Given the description of an element on the screen output the (x, y) to click on. 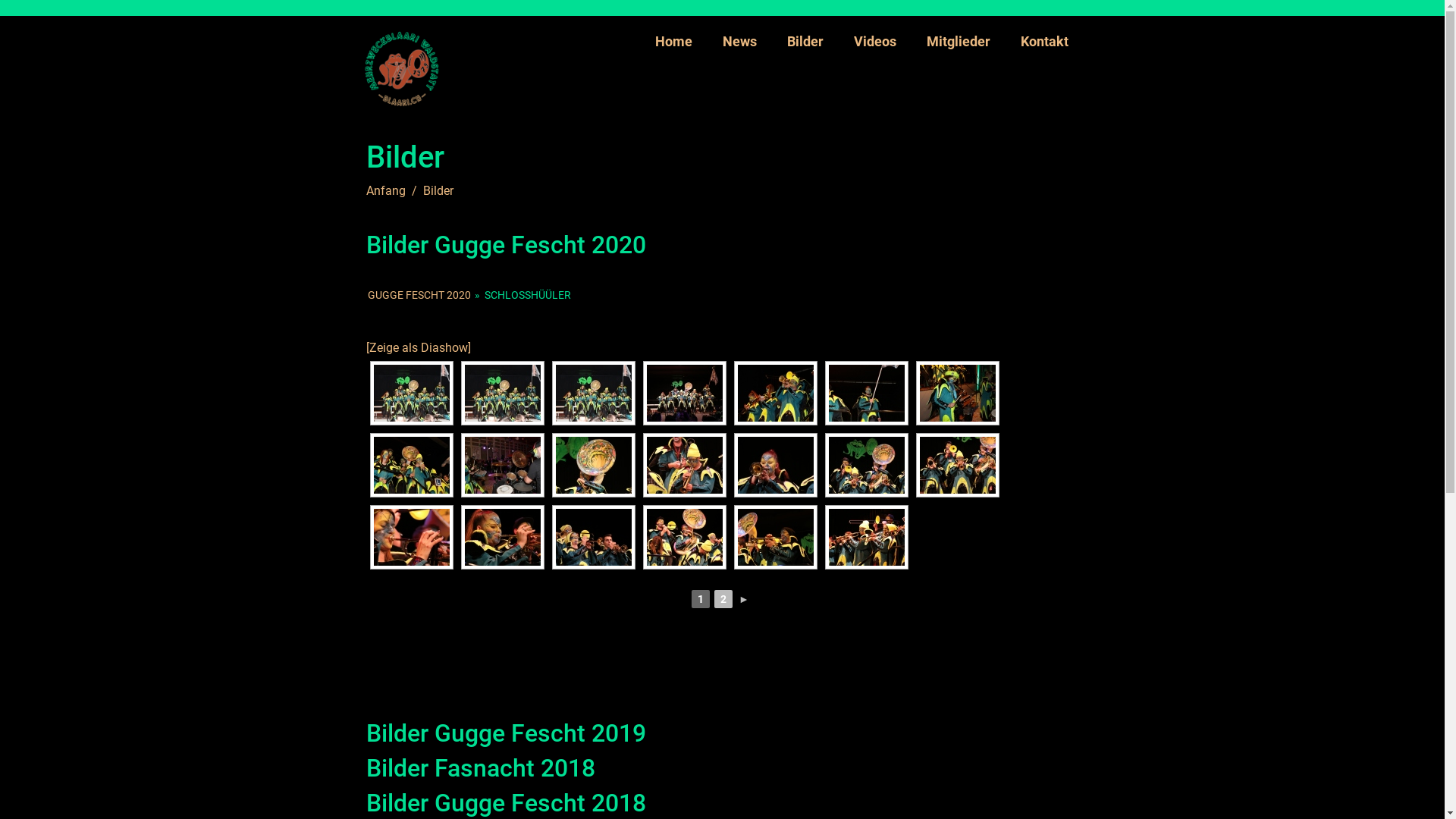
7D2_5096 Element type: hover (410, 536)
7D2_5083 Element type: hover (501, 464)
Anfang Element type: text (384, 190)
GUGGE FESCHT 2020 Element type: text (418, 294)
7D2_5066-Kopie-2 Element type: hover (410, 392)
7D2_5100-Kopie-2 Element type: hover (774, 536)
News Element type: text (739, 41)
7D2_5097 Element type: hover (501, 536)
7D2_5090 Element type: hover (683, 464)
7D2_5066 Element type: hover (592, 392)
Home Element type: text (673, 41)
7D2_5101 Element type: hover (865, 536)
[Zeige als Diashow] Element type: text (417, 347)
Mitglieder Element type: text (958, 41)
7D2_5099 Element type: hover (683, 536)
7D2_5089 Element type: hover (592, 464)
Videos Element type: text (874, 41)
7D2_5082 Element type: hover (410, 464)
7D2_5098 Element type: hover (592, 536)
7D2_5081 Element type: hover (956, 392)
Kontakt Element type: text (1044, 41)
7D2_5095 Element type: hover (956, 464)
7D2_5079-Kopie-2 Element type: hover (774, 392)
7D2_5094 Element type: hover (865, 464)
7D2_5071-Kopie Element type: hover (683, 392)
2 Element type: text (723, 598)
7D2_5080-Kopie Element type: hover (865, 392)
7D2_5093 Element type: hover (774, 464)
Bilder Element type: text (804, 41)
7D2_5066-Kopie Element type: hover (501, 392)
